Given the description of an element on the screen output the (x, y) to click on. 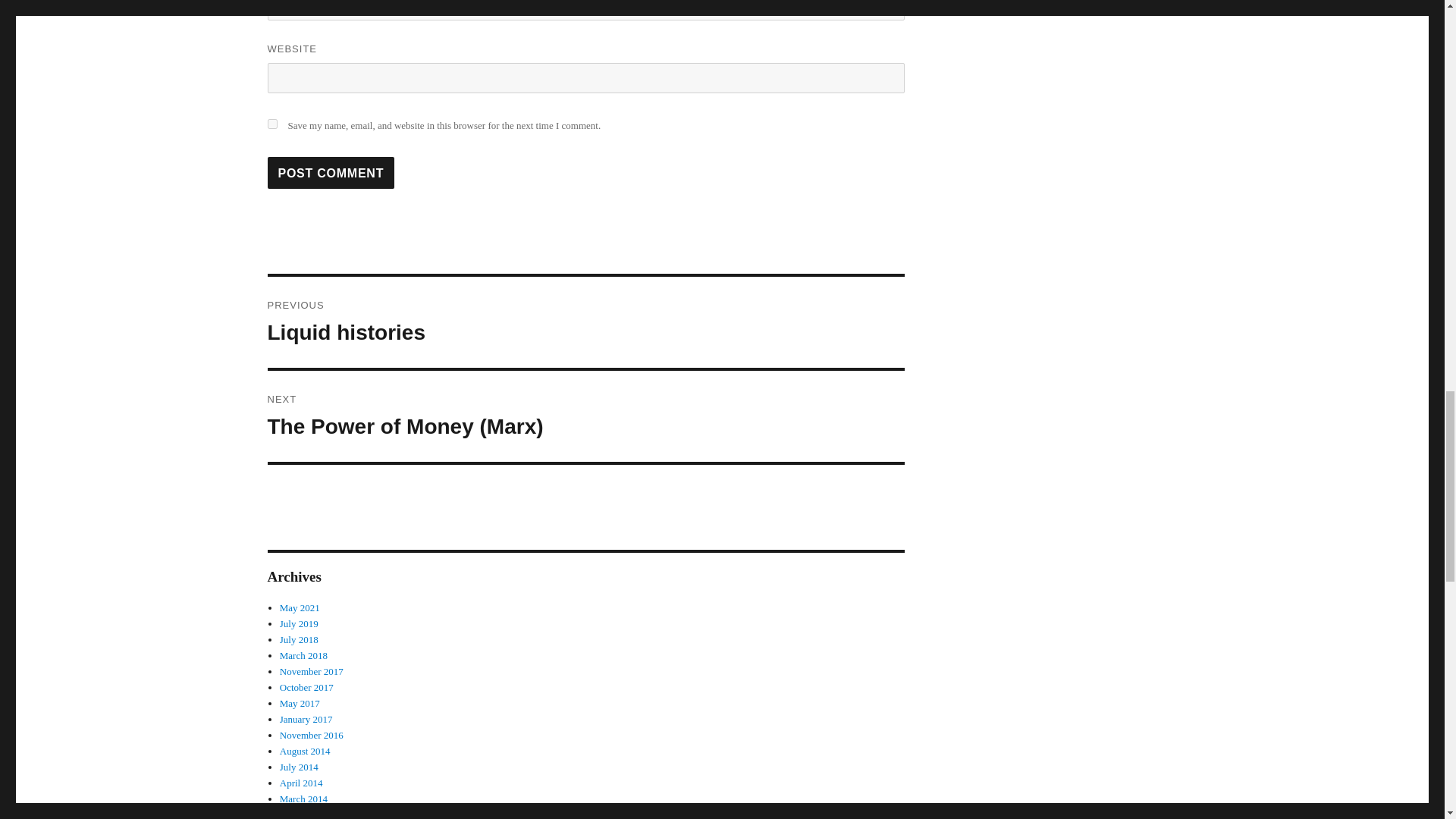
November 2017 (311, 671)
March 2018 (303, 655)
Post Comment (330, 173)
May 2017 (299, 703)
yes (271, 123)
July 2014 (298, 767)
March 2014 (585, 321)
July 2019 (303, 798)
November 2013 (298, 623)
